Given the description of an element on the screen output the (x, y) to click on. 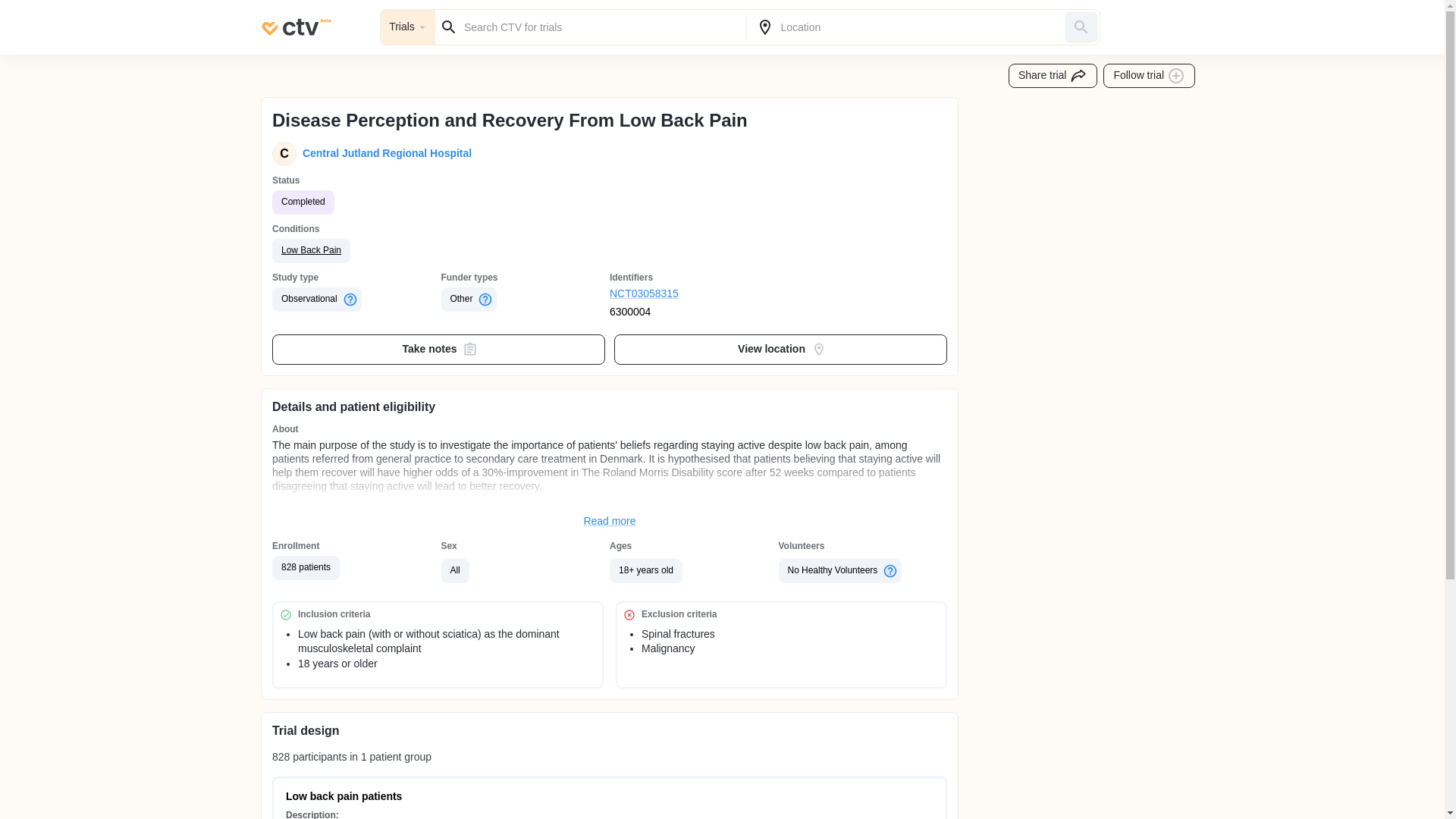
Take notes (438, 349)
View location (780, 349)
Follow trial (1149, 75)
Read more (609, 521)
Share trial (1053, 75)
Central Jutland Regional Hospital (384, 153)
NCT03058315 (694, 294)
Trials (407, 27)
